Given the description of an element on the screen output the (x, y) to click on. 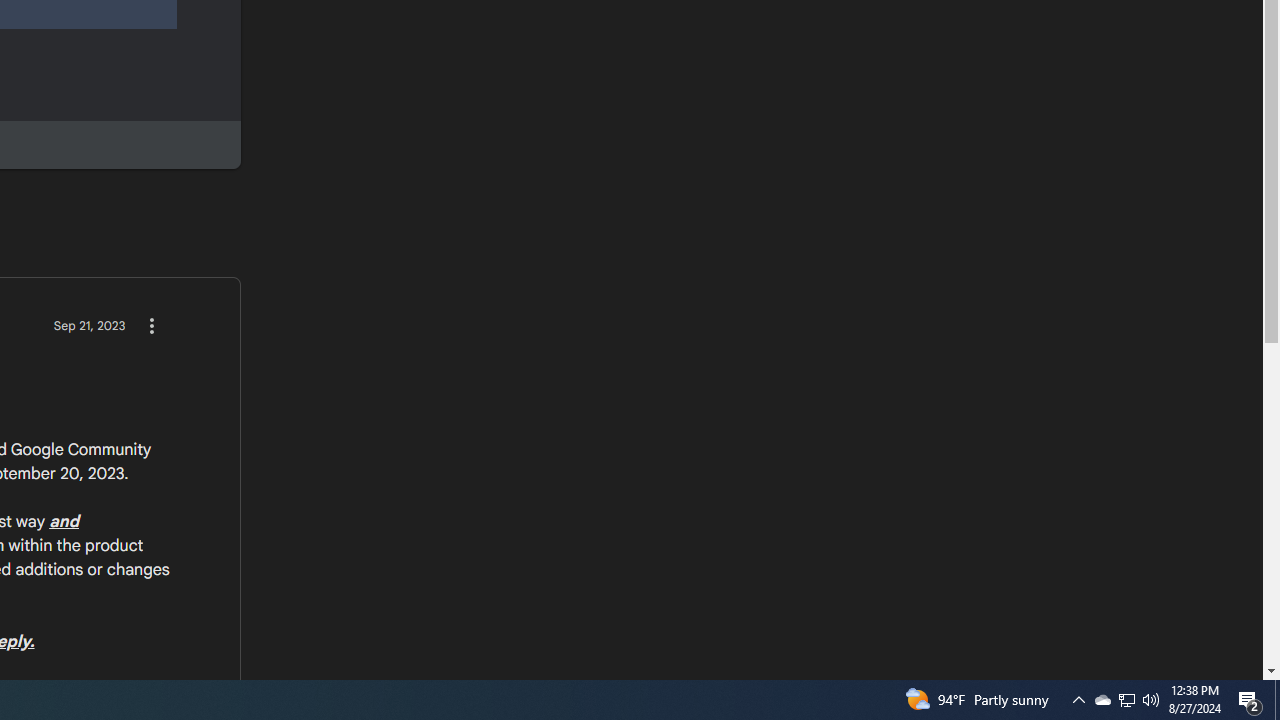
Action items for the reply (151, 325)
Action items for the reply (151, 325)
